Given the description of an element on the screen output the (x, y) to click on. 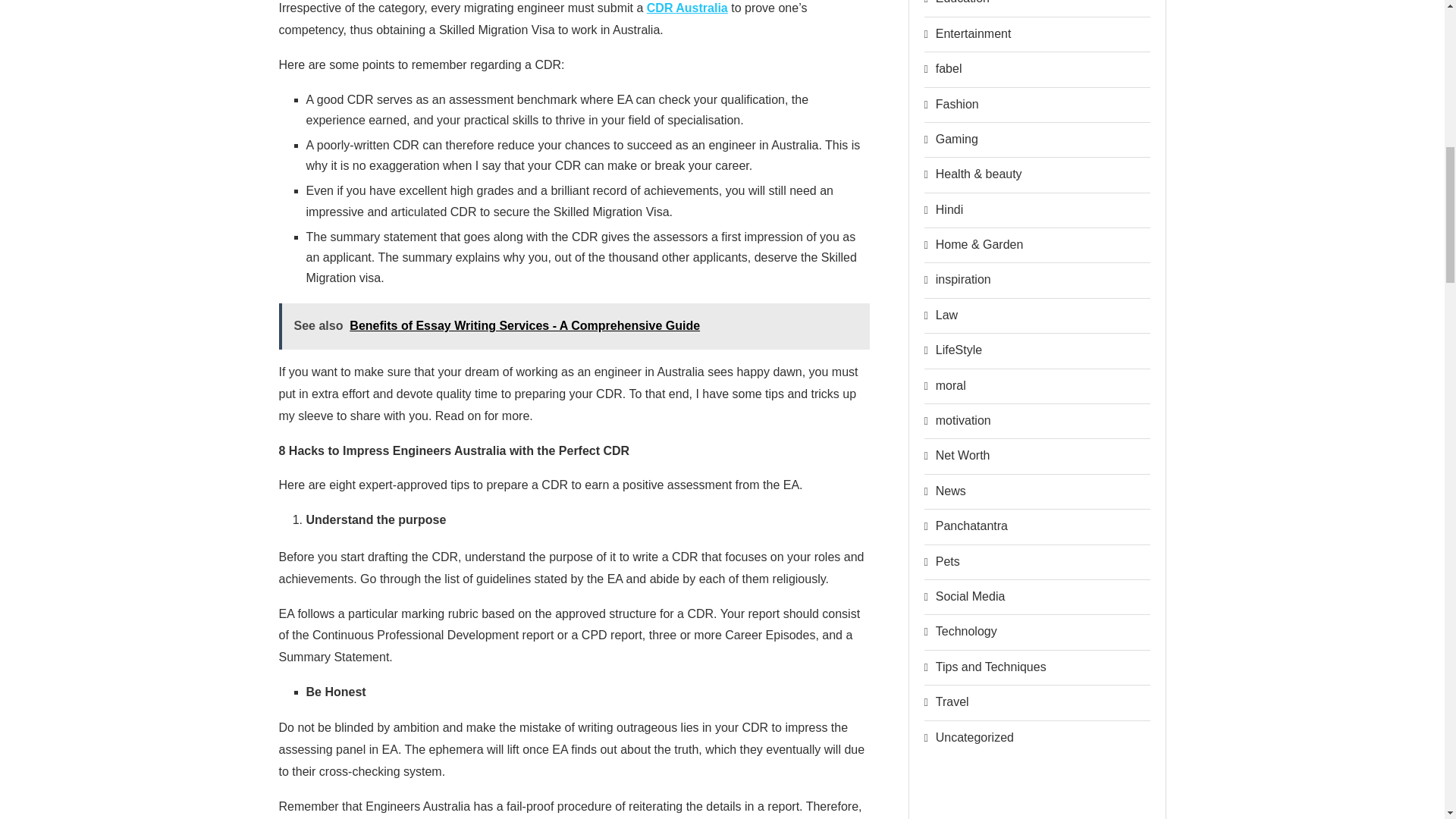
CDR Australia (687, 7)
